Given the description of an element on the screen output the (x, y) to click on. 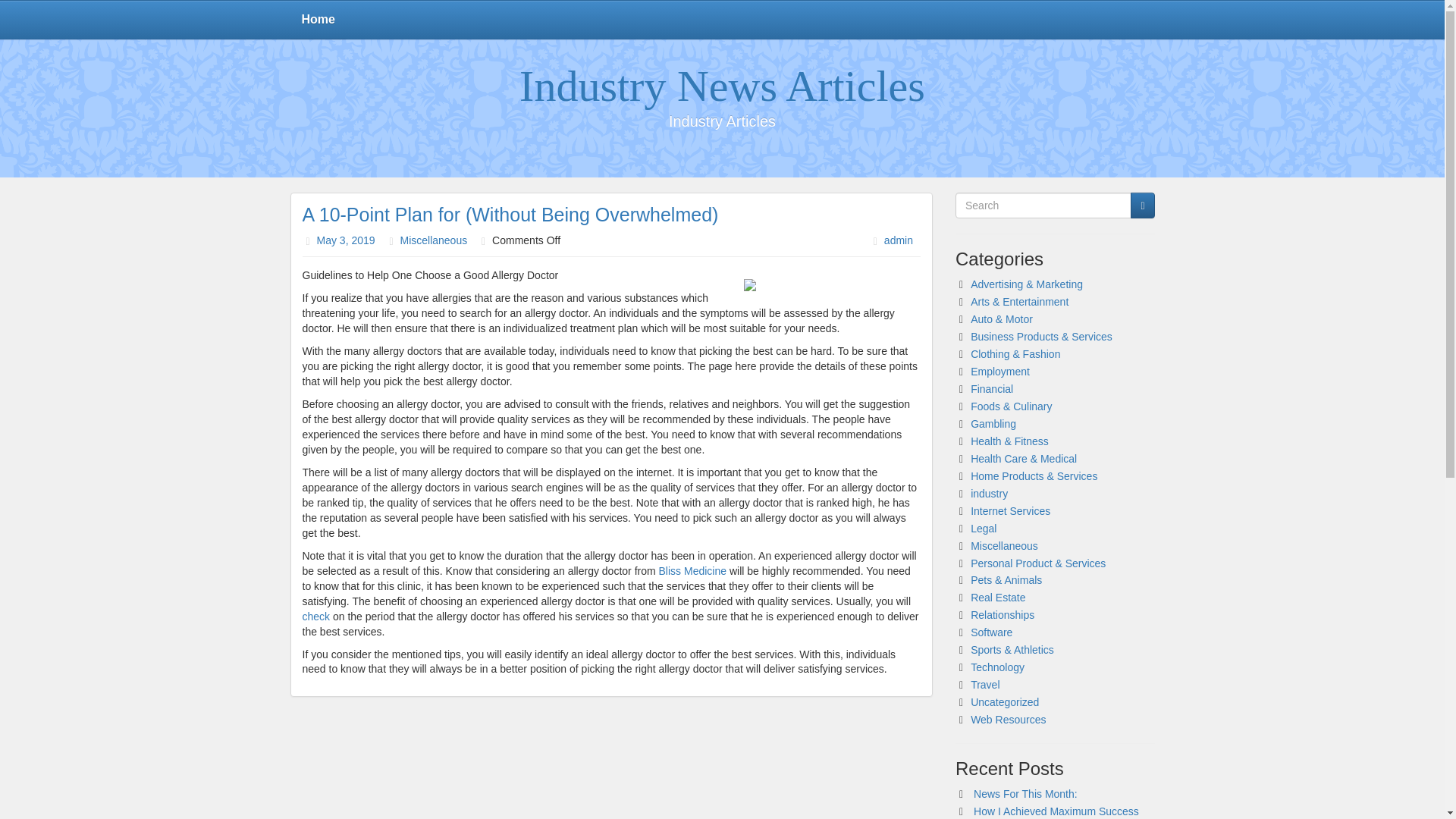
Posts by admin (897, 240)
How I Achieved Maximum Success with (1048, 812)
News For This Month: (1025, 793)
Relationships (1002, 614)
Industry News Articles (721, 85)
Gambling (993, 423)
check (315, 616)
Industry News Articles (721, 85)
Employment (1000, 371)
Financial (992, 388)
